Given the description of an element on the screen output the (x, y) to click on. 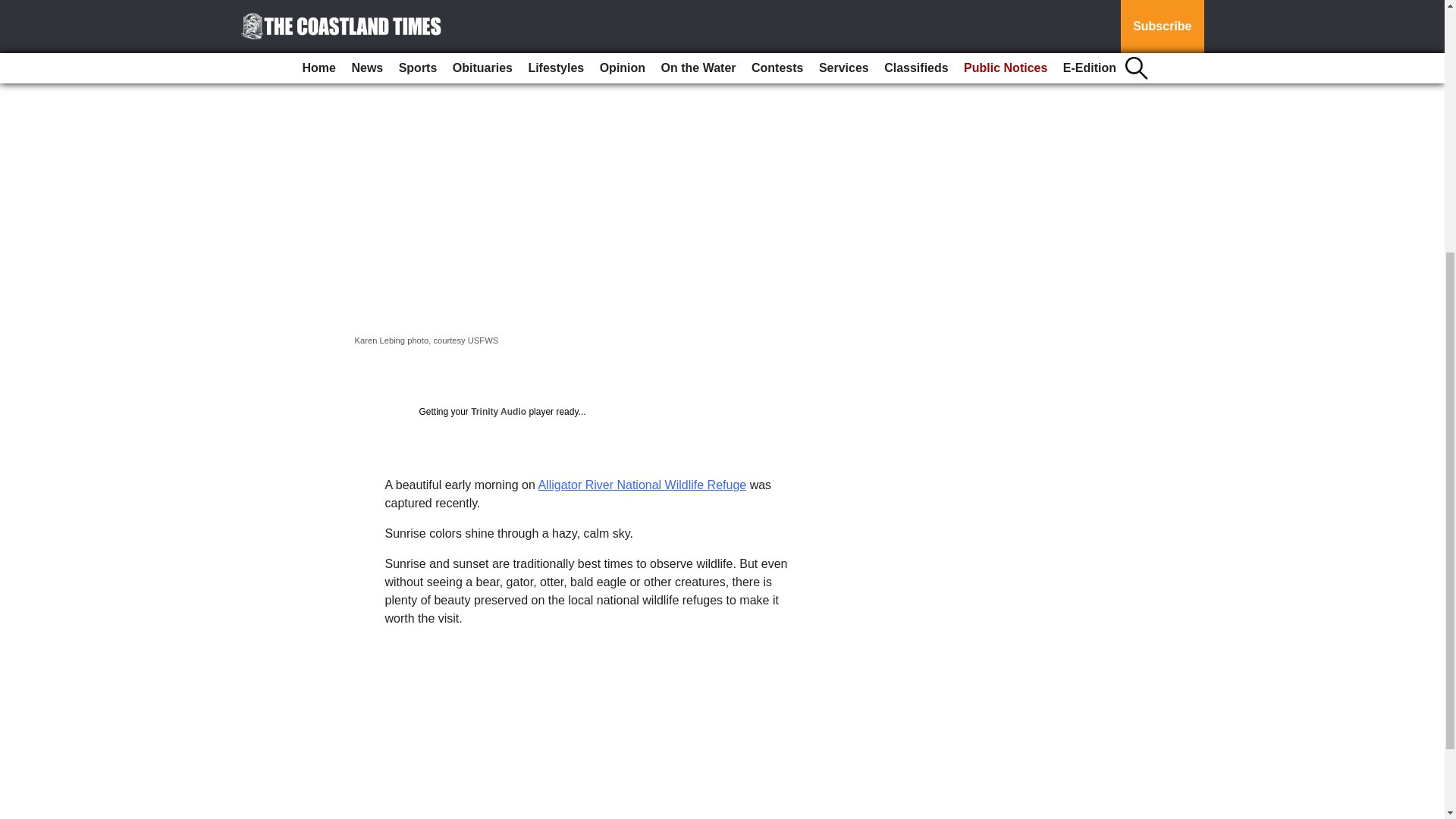
Trinity Audio (497, 411)
Alligator River National Wildlife Refuge (641, 484)
Staff Reports (394, 22)
